Given the description of an element on the screen output the (x, y) to click on. 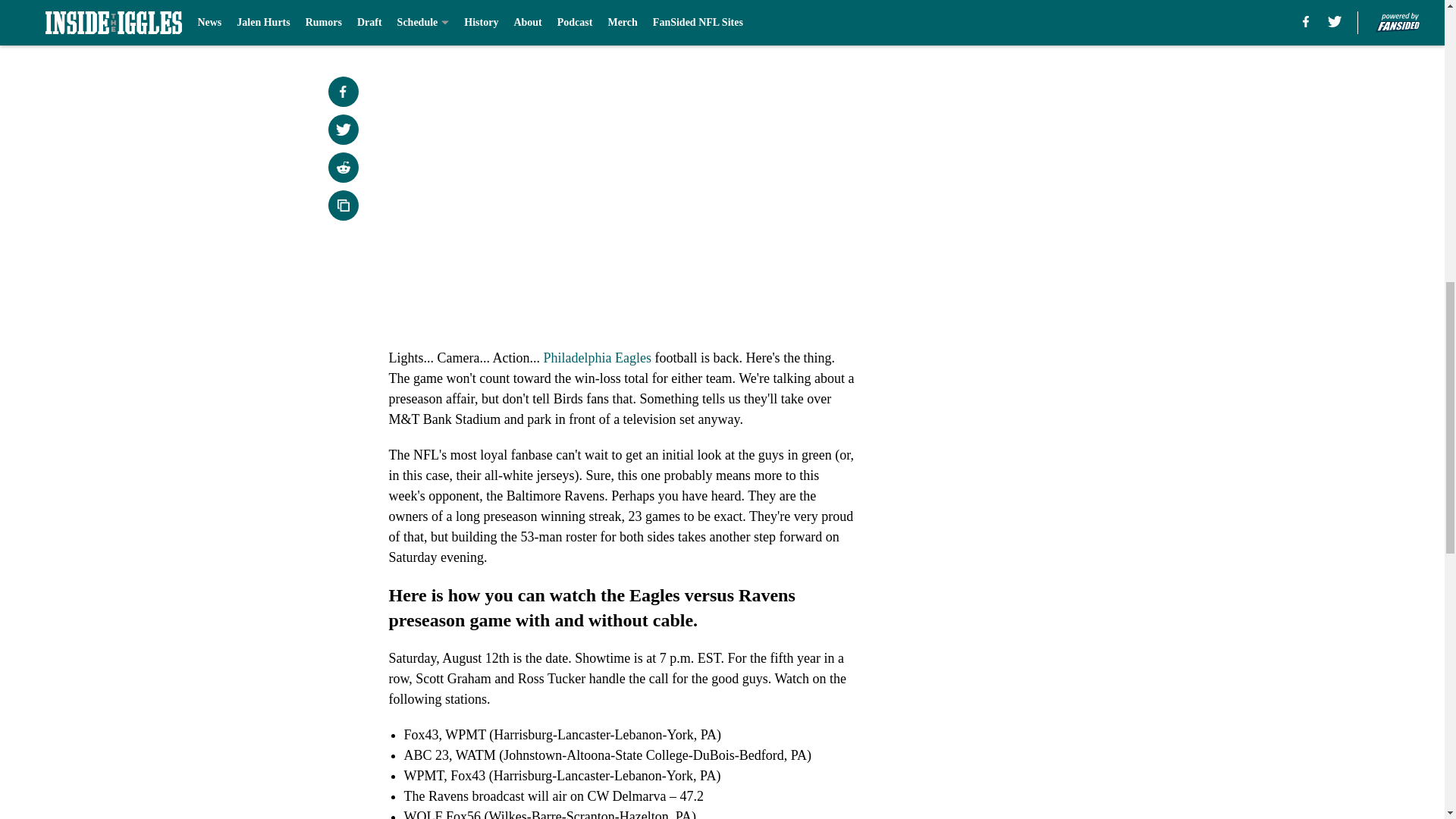
Philadelphia Eagles (596, 357)
